Given the description of an element on the screen output the (x, y) to click on. 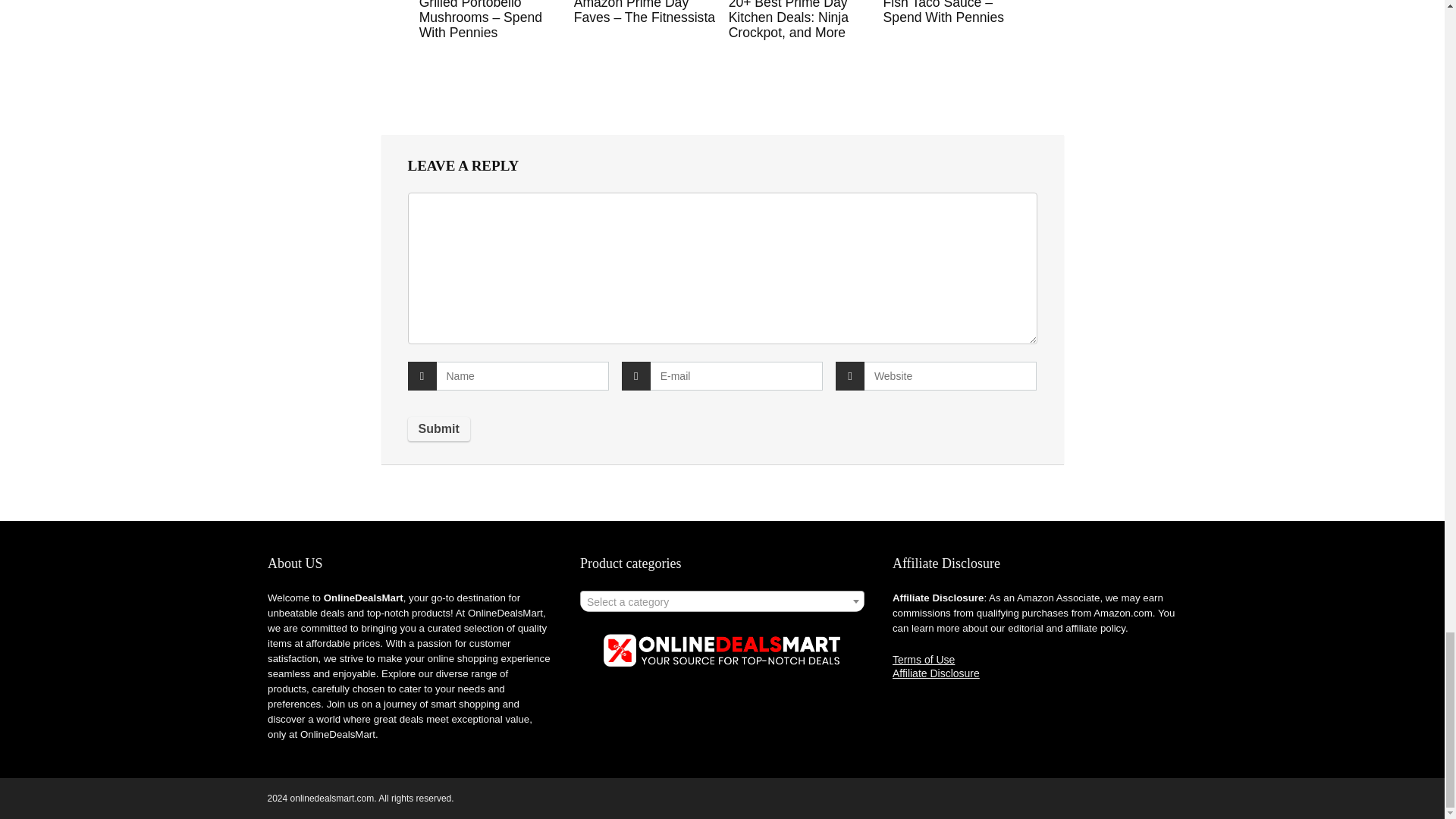
Submit (438, 428)
